Given the description of an element on the screen output the (x, y) to click on. 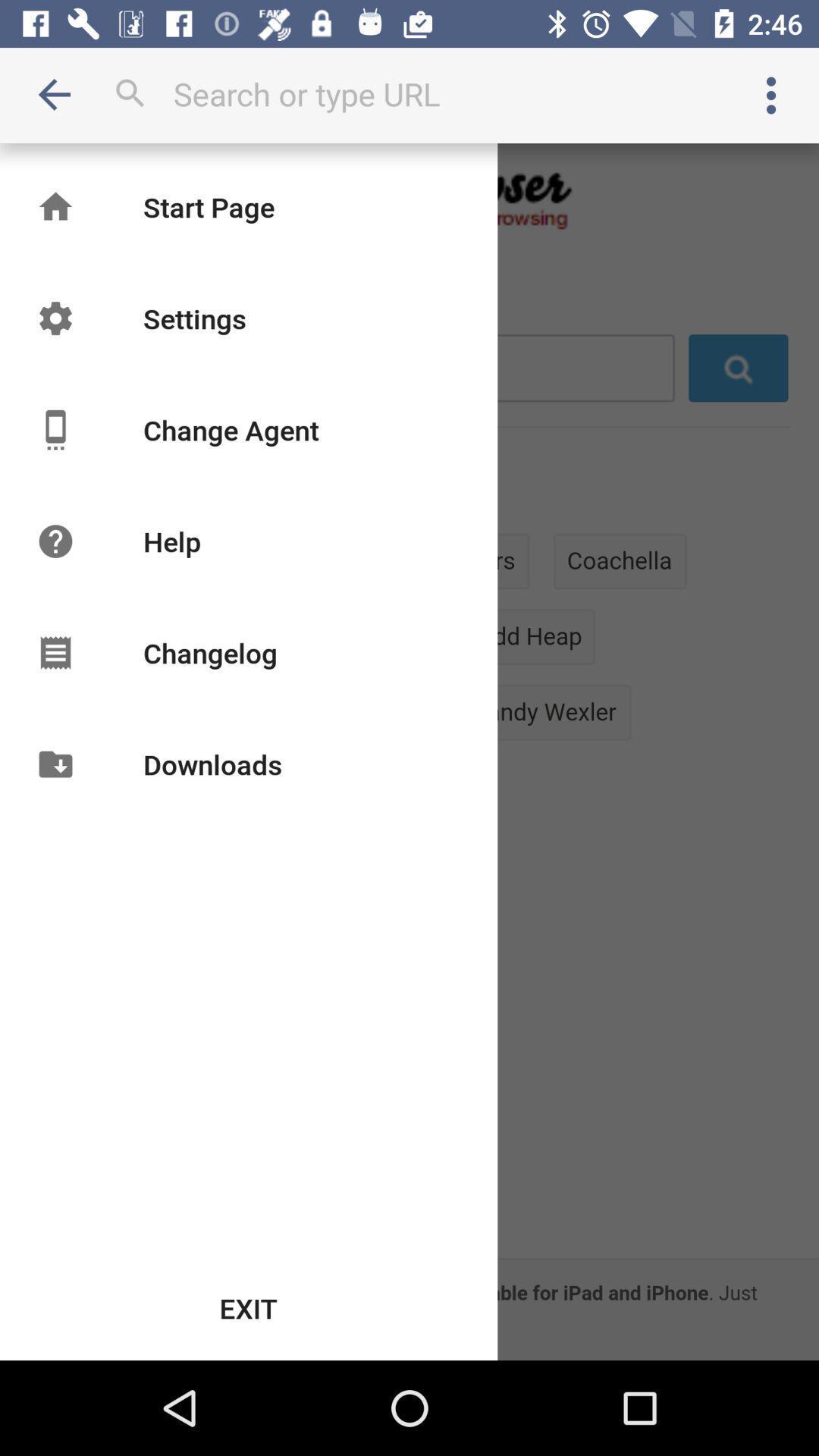
tap icon below help icon (210, 652)
